Given the description of an element on the screen output the (x, y) to click on. 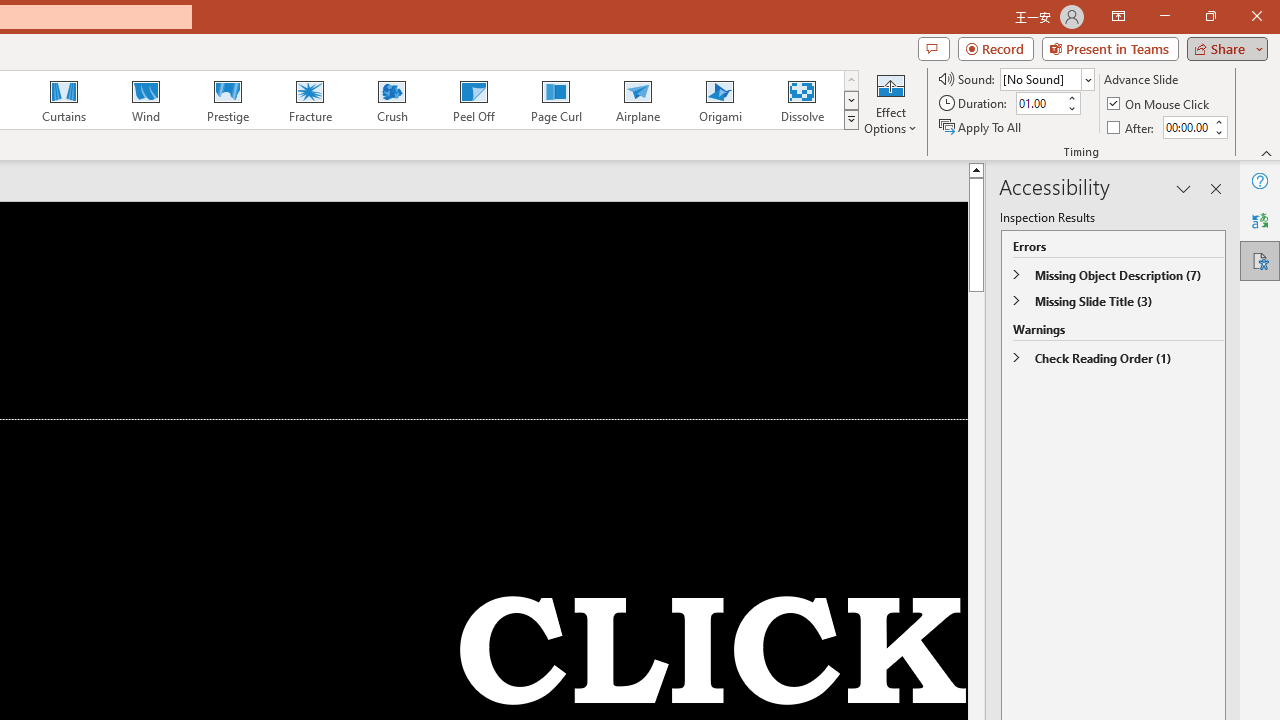
After (1186, 127)
More (1218, 121)
Dissolve (802, 100)
Peel Off (473, 100)
Less (1218, 132)
Fracture (309, 100)
Transition Effects (850, 120)
Curtains (63, 100)
Crush (391, 100)
